Given the description of an element on the screen output the (x, y) to click on. 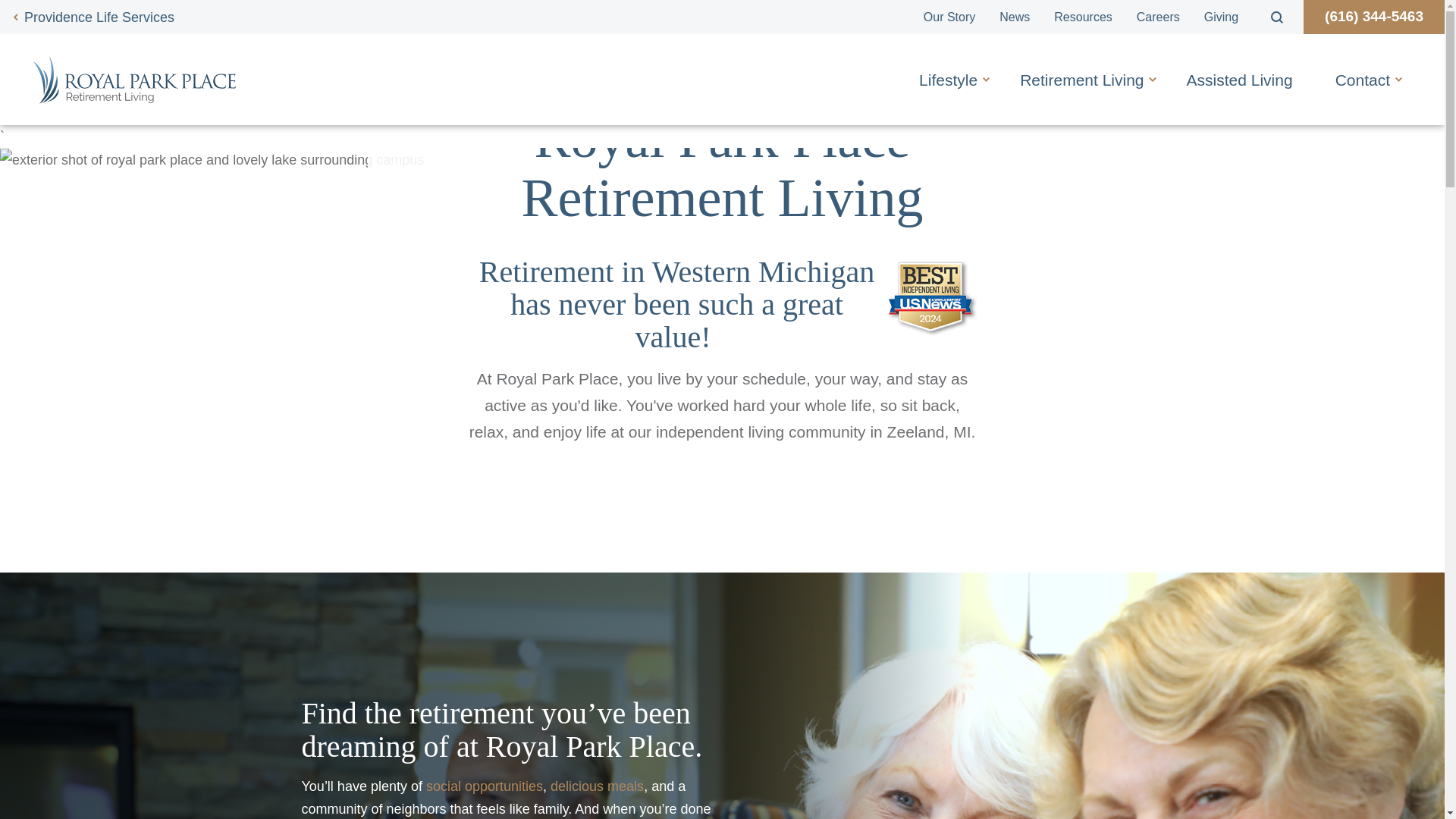
Search (1276, 17)
Lifestyle (948, 79)
Assisted Living (1239, 79)
Providence Life Services (92, 16)
Our Story (949, 17)
Giving (1221, 17)
News (1014, 17)
Careers (1158, 17)
Retirement Living (1081, 79)
Resources (1083, 17)
